Given the description of an element on the screen output the (x, y) to click on. 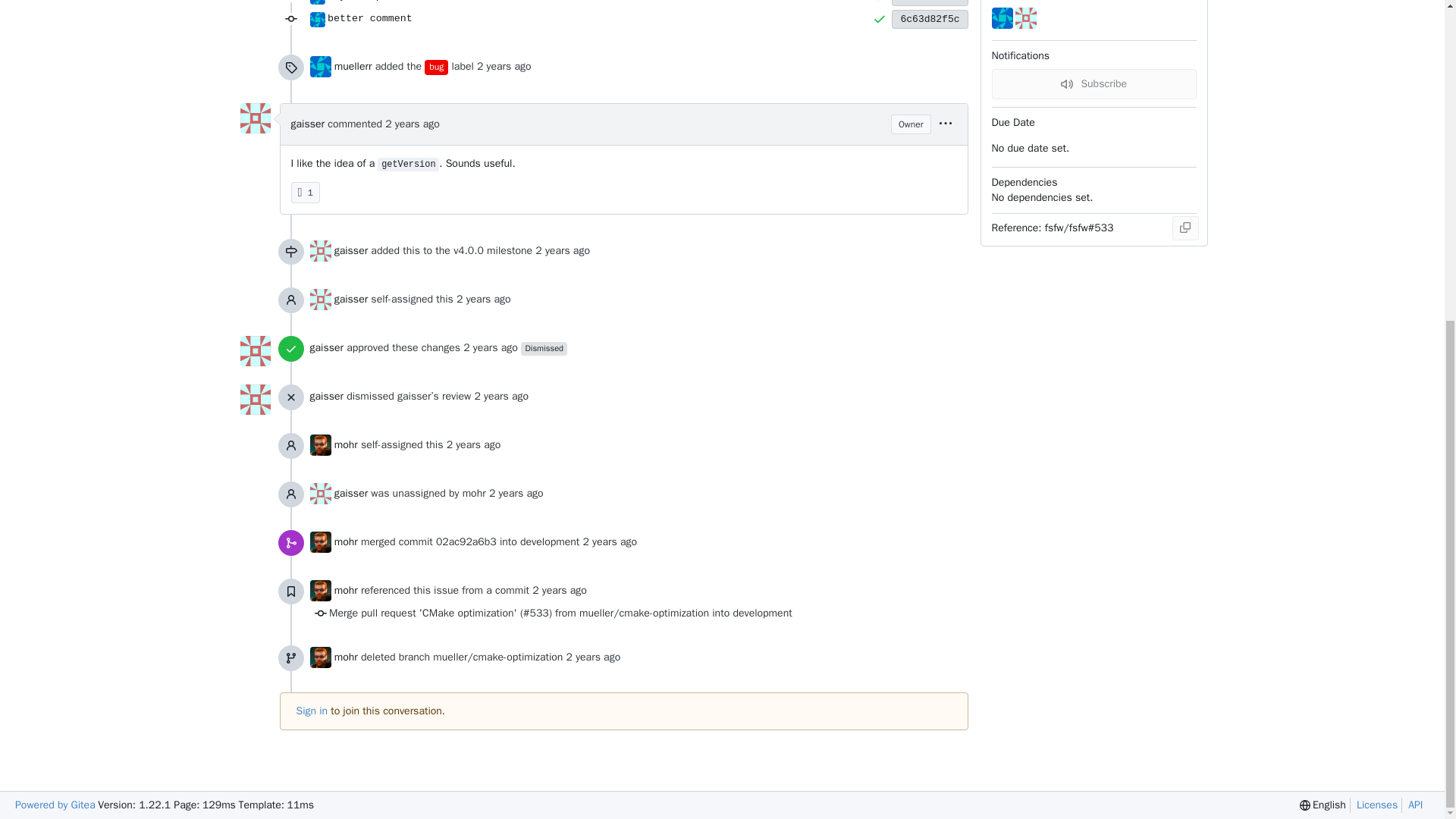
better comment (599, 18)
Steffen Gaisser (254, 118)
78ddce249c (929, 2)
Something is not working (436, 67)
mohr (305, 192)
try an optimization (384, 0)
Steffen Gaisser (319, 250)
